Given the description of an element on the screen output the (x, y) to click on. 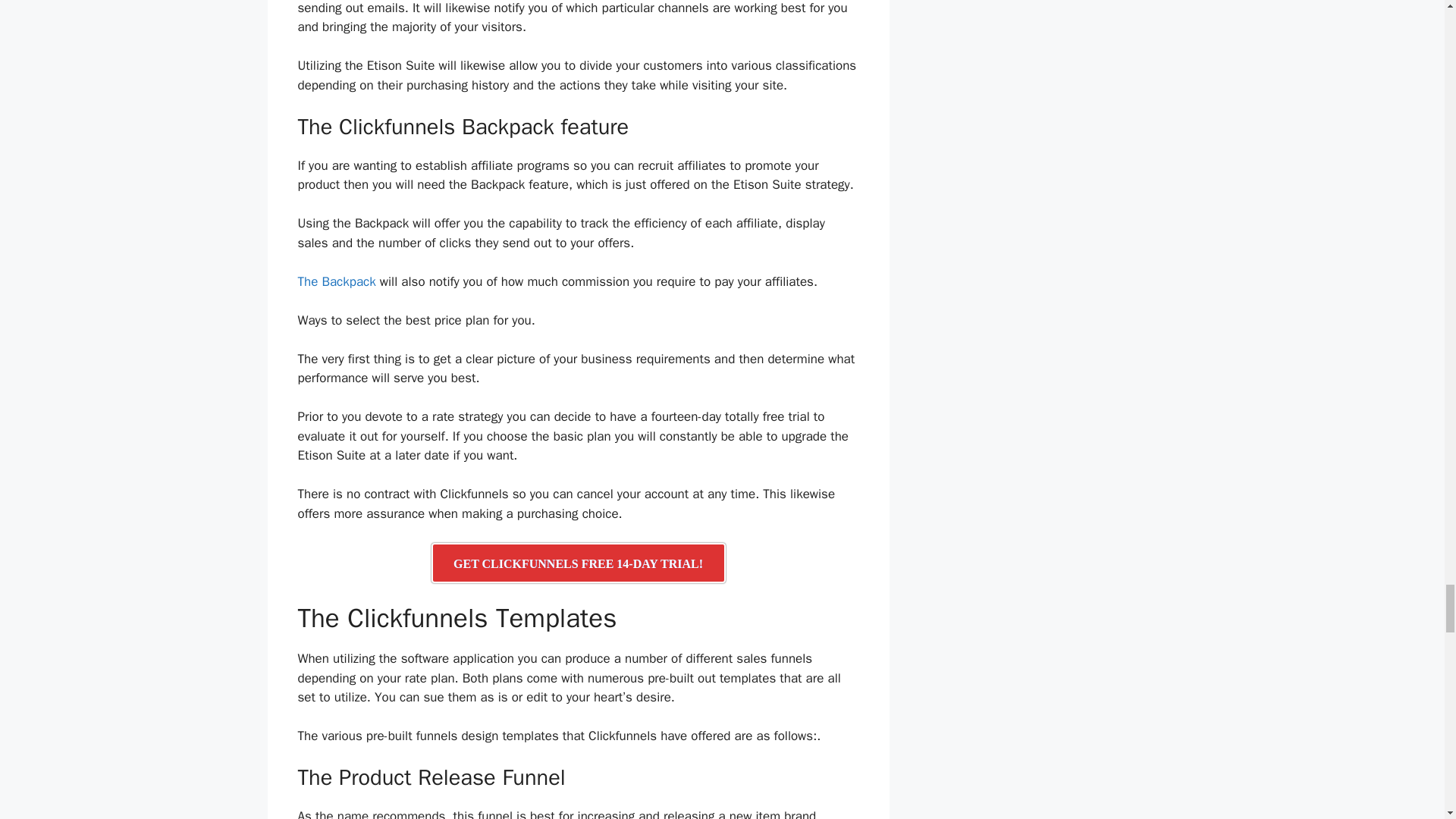
The Backpack (336, 281)
GET CLICKFUNNELS FREE 14-DAY TRIAL! (577, 562)
